Given the description of an element on the screen output the (x, y) to click on. 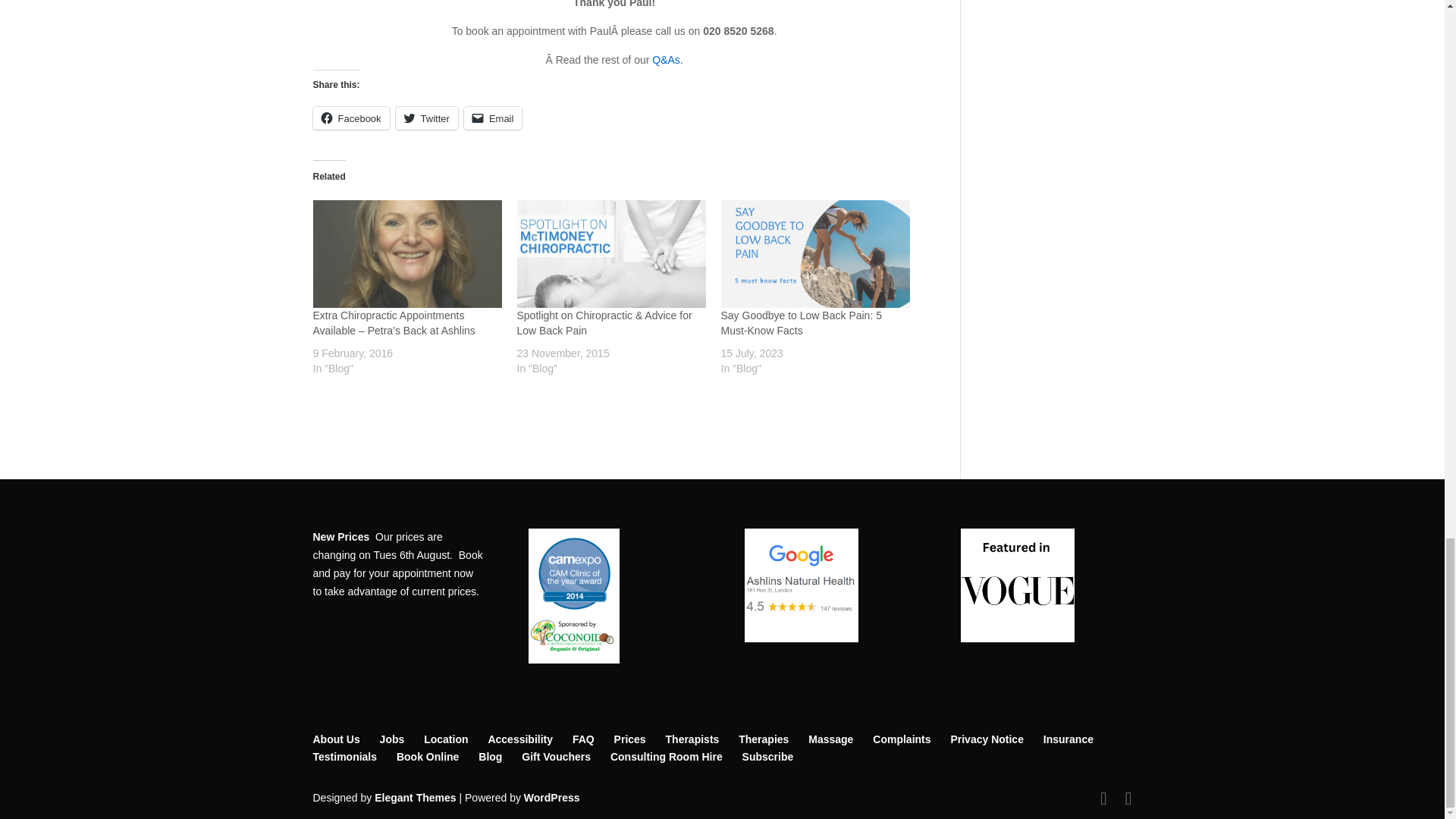
Premium WordPress Themes (414, 797)
Say Goodbye to Low Back Pain: 5 Must-Know Facts (800, 322)
Click to share on Twitter (427, 118)
Say Goodbye to Low Back Pain: 5 Must-Know Facts (814, 253)
Click to email a link to a friend (493, 118)
Click to share on Facebook (350, 118)
